Given the description of an element on the screen output the (x, y) to click on. 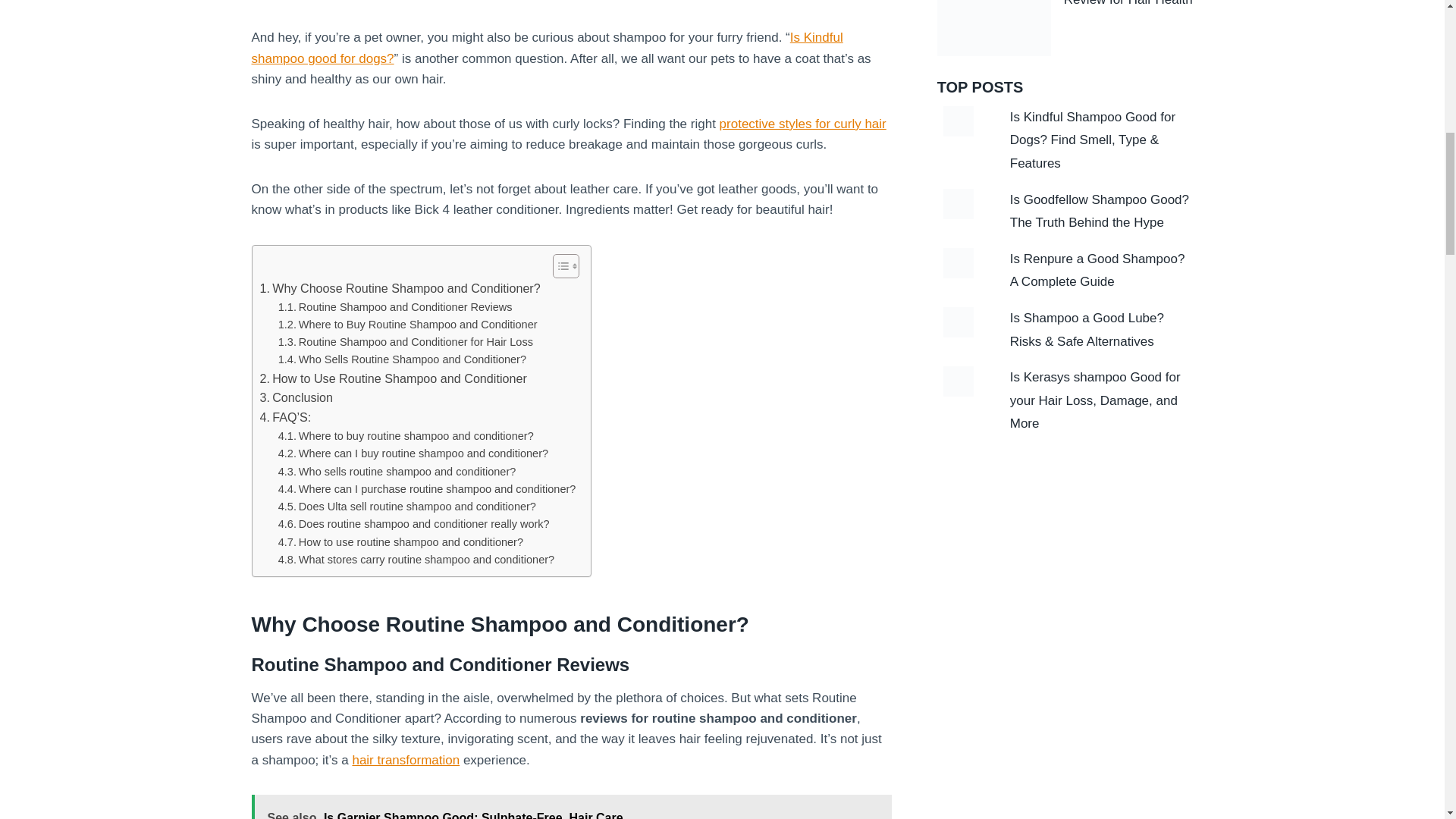
Where to buy routine shampoo and conditioner? (406, 436)
Does routine shampoo and conditioner really work? (414, 524)
How to Use Routine Shampoo and Conditioner (392, 379)
Who sells routine shampoo and conditioner? (397, 471)
Where to Buy Routine Shampoo and Conditioner (407, 324)
Conclusion (296, 397)
Who sells routine shampoo and conditioner? (397, 471)
protective styles for curly hair (802, 124)
What stores carry routine shampoo and conditioner? (416, 559)
How to use routine shampoo and conditioner? (400, 542)
